Given the description of an element on the screen output the (x, y) to click on. 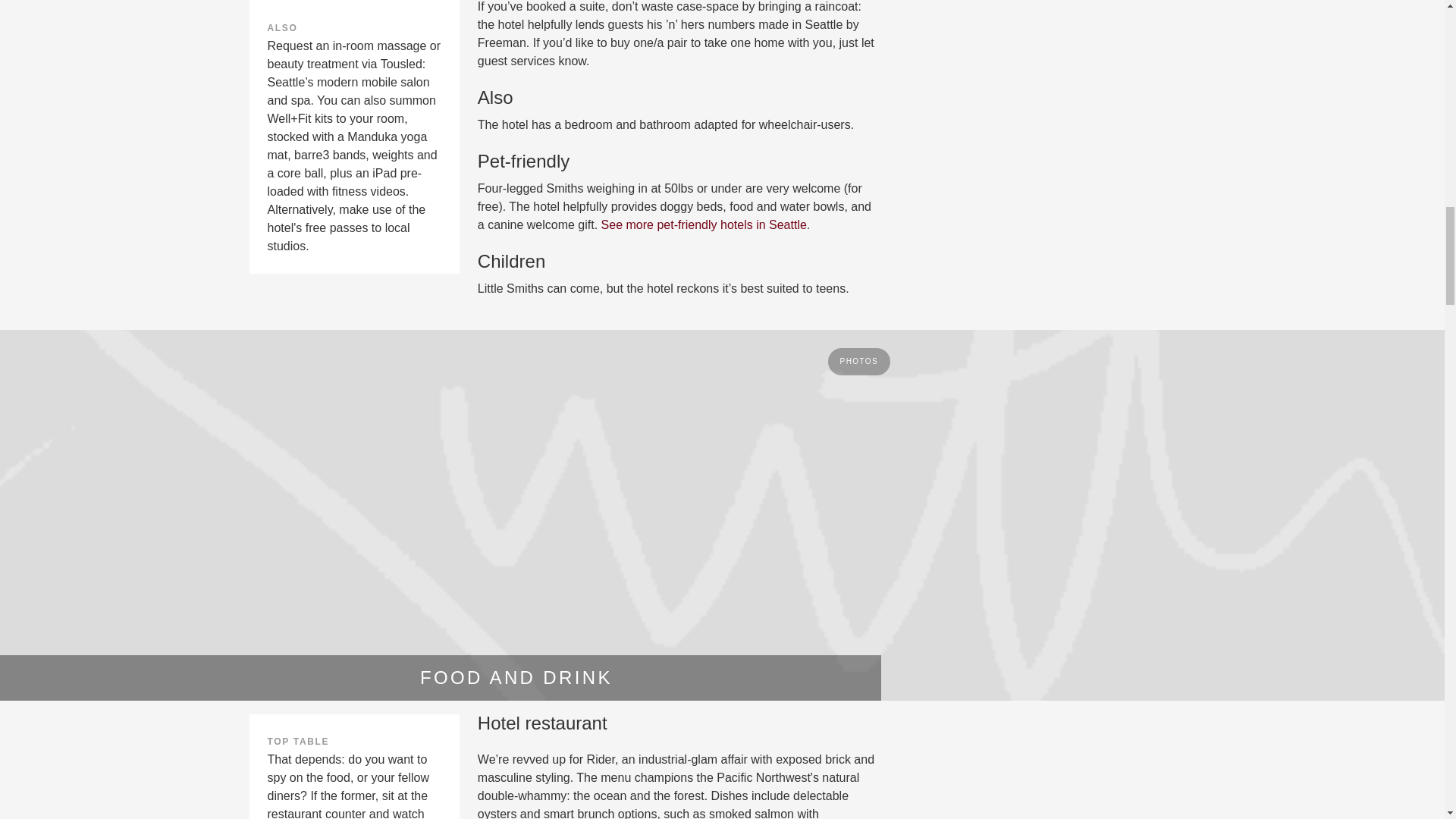
See more pet-friendly hotels in Seattle (703, 224)
